Given the description of an element on the screen output the (x, y) to click on. 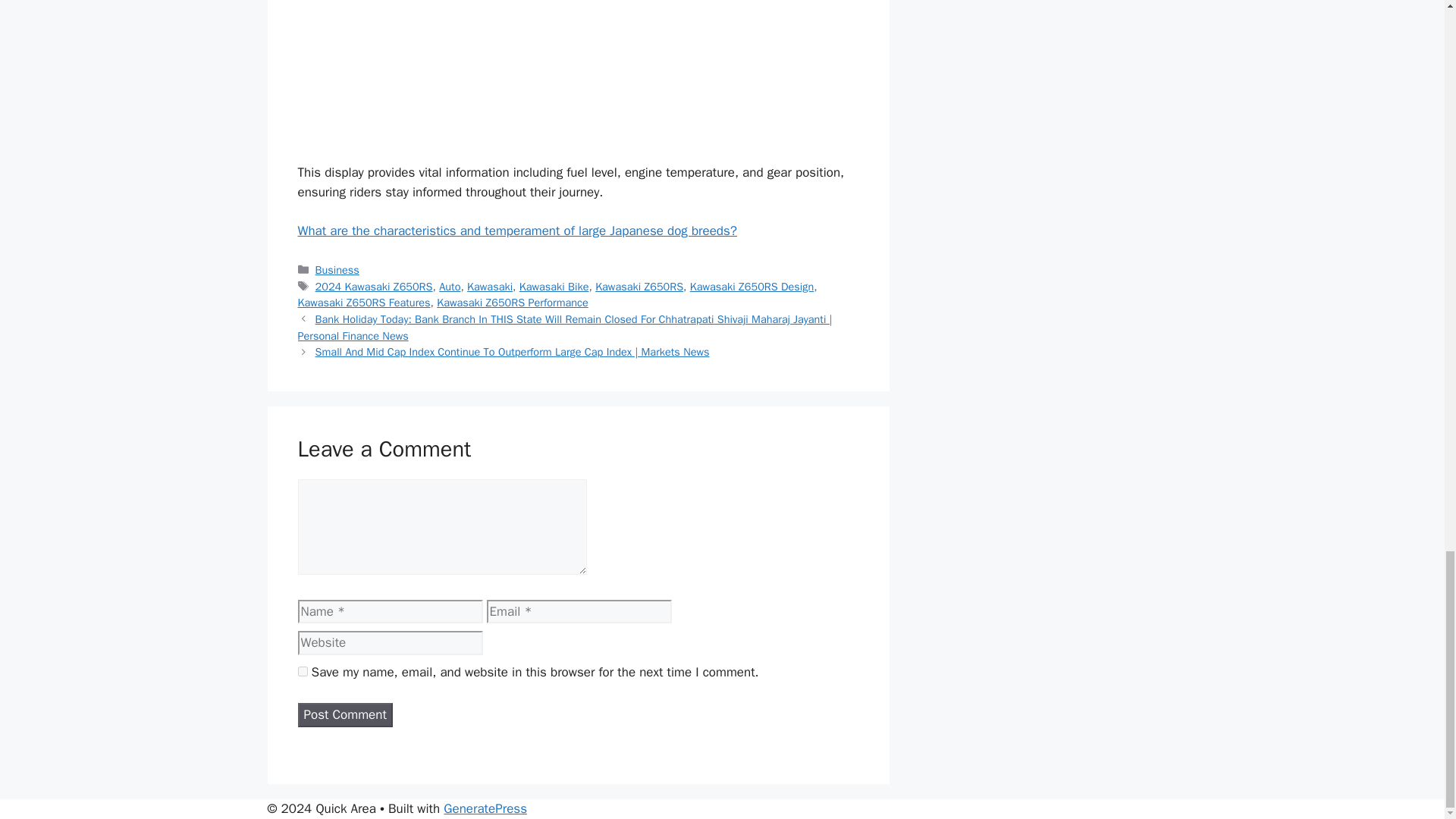
Kawasaki Bike (554, 286)
Kawasaki Z650RS Design (751, 286)
Kawasaki (489, 286)
Auto (449, 286)
Kawasaki Z650RS Features (363, 302)
yes (302, 671)
Kawasaki Z650RS (638, 286)
2024 Kawasaki Z650RS (373, 286)
Business (337, 269)
Post Comment (344, 714)
